Given the description of an element on the screen output the (x, y) to click on. 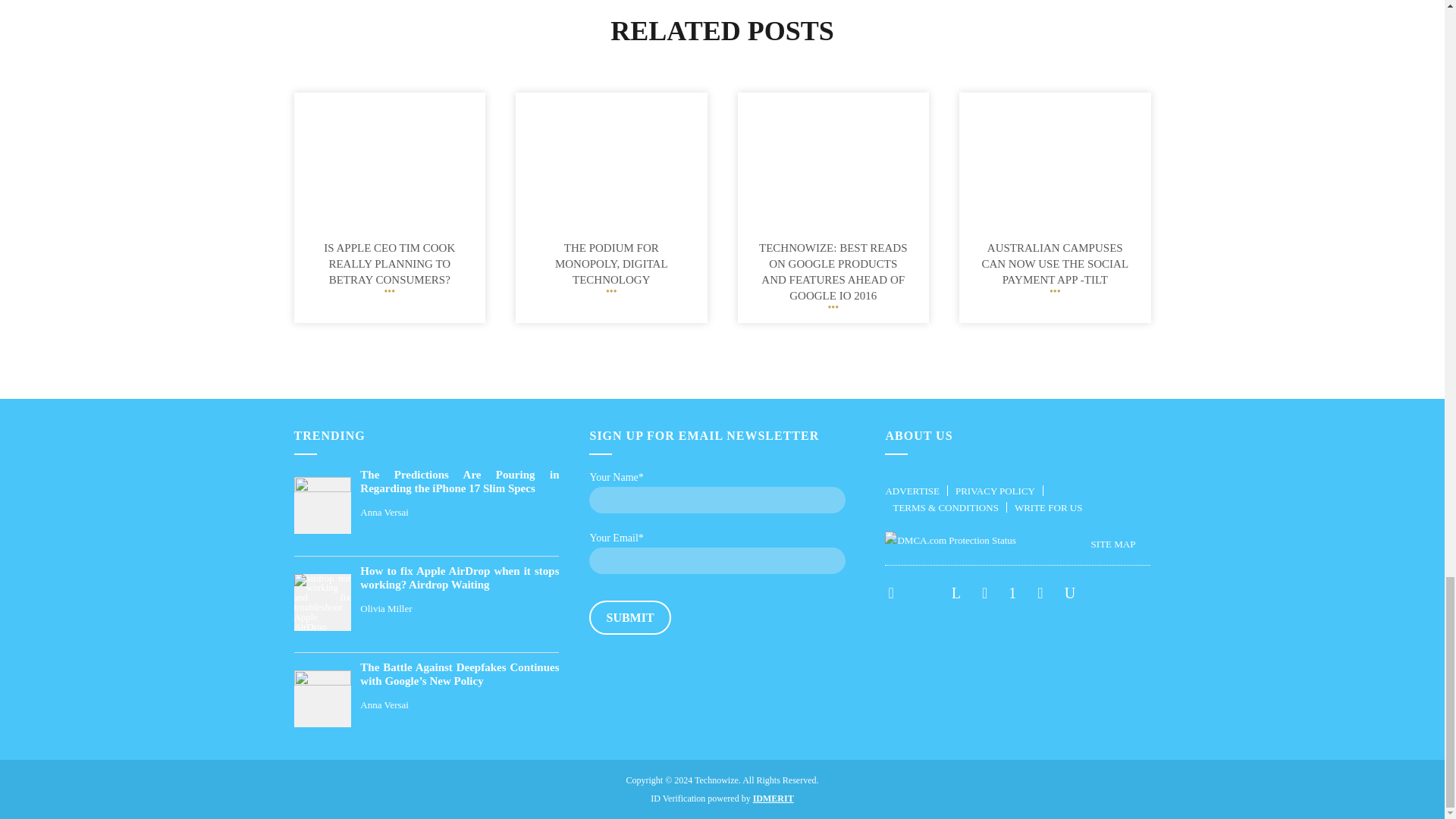
Submit (629, 617)
